Given the description of an element on the screen output the (x, y) to click on. 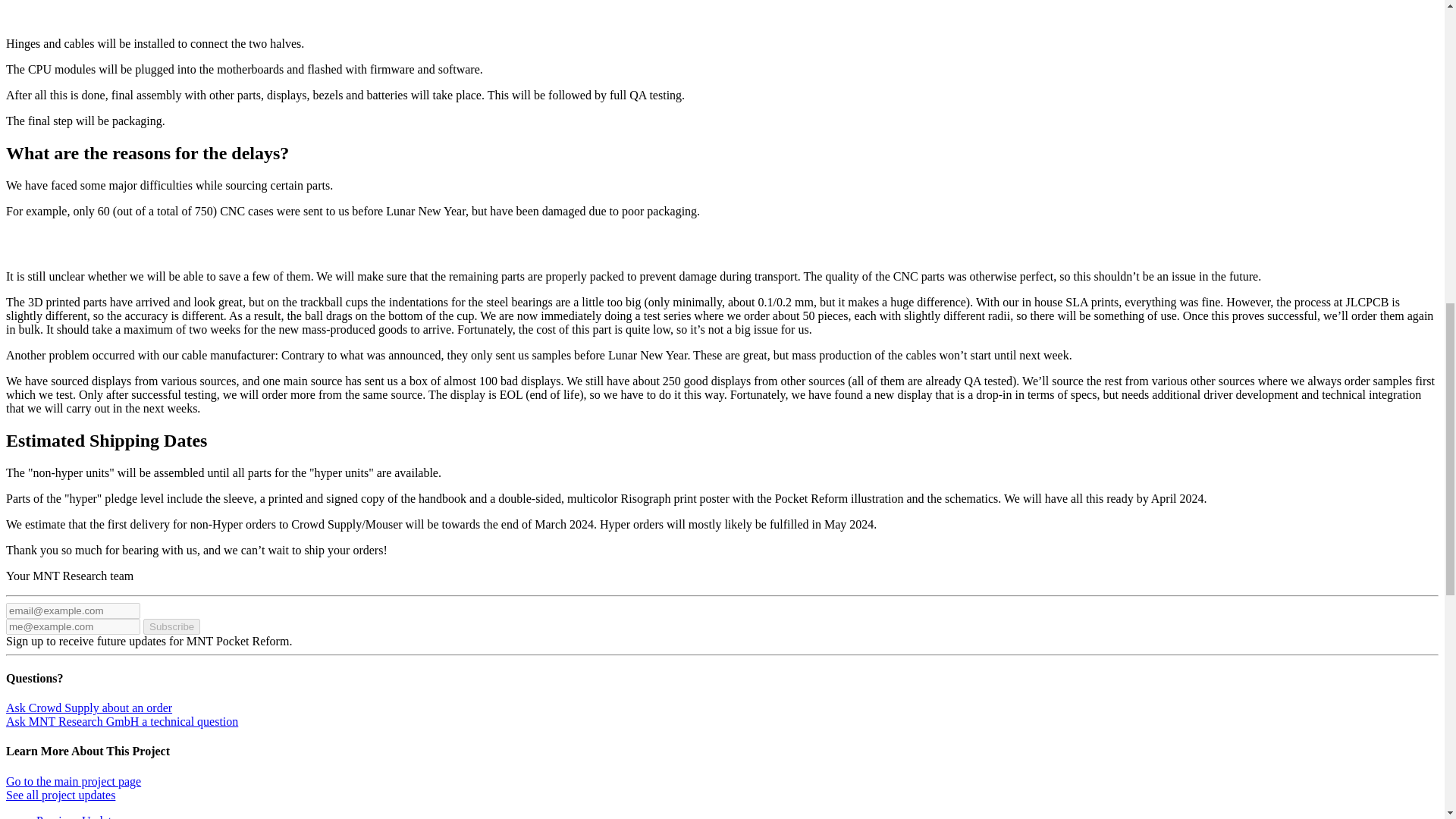
Go to the main project page (73, 780)
Previous Update (76, 816)
Ask MNT Research GmbH a technical question (121, 721)
Ask Crowd Supply about an order (88, 707)
See all project updates (60, 794)
Subscribe (171, 626)
